Given the description of an element on the screen output the (x, y) to click on. 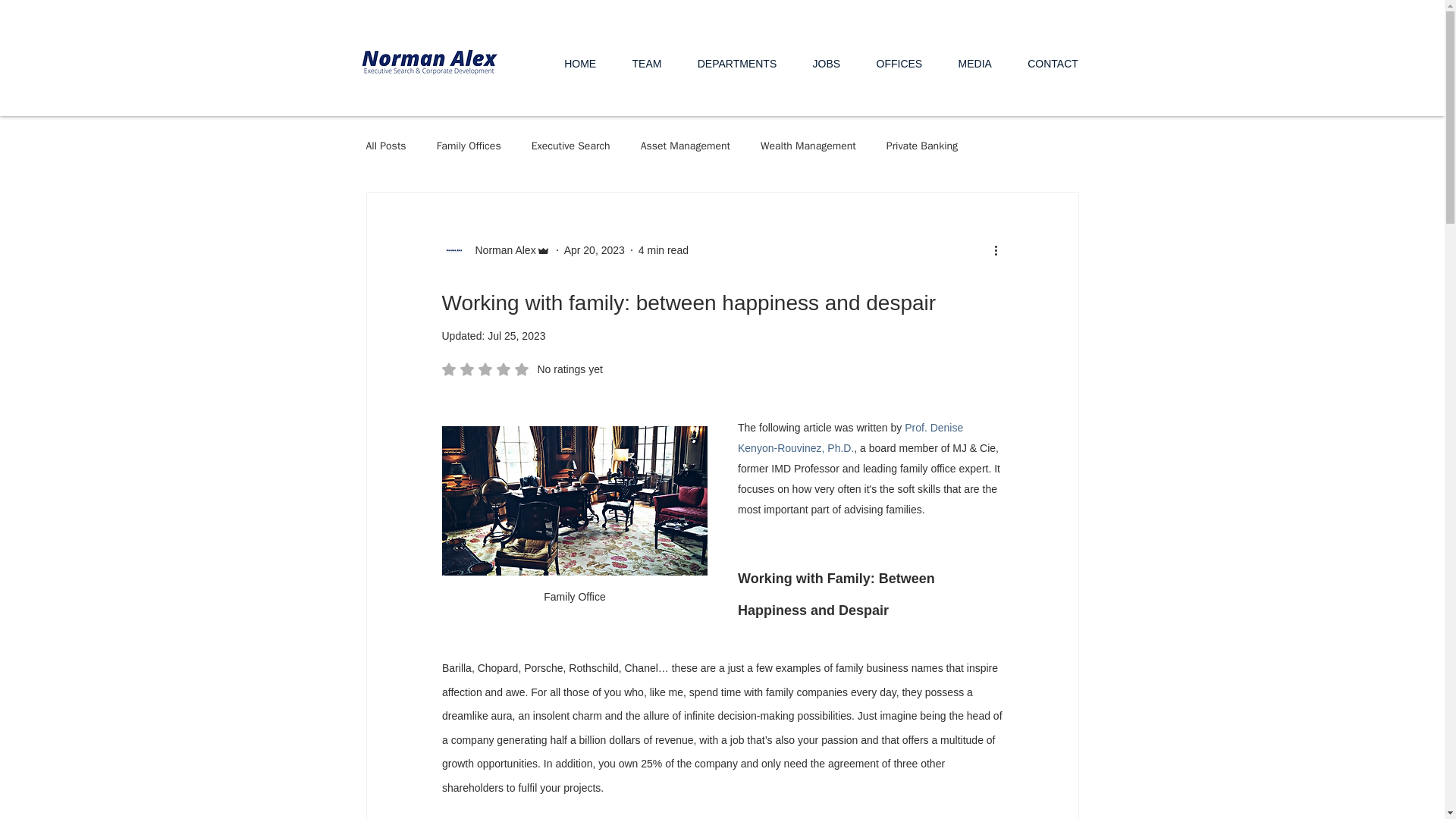
TEAM (647, 62)
Asset Management (685, 146)
Prof. Denise Kenyon-Rouvinez, Ph.D. (850, 437)
All Posts (385, 146)
Executive Search (570, 146)
JOBS (826, 62)
CONTACT (1053, 62)
Norman Alex (500, 250)
OFFICES (899, 62)
Norman Alex (495, 250)
HOME (579, 62)
Family Offices (468, 146)
Private Banking (922, 146)
Jul 25, 2023 (515, 336)
